Given the description of an element on the screen output the (x, y) to click on. 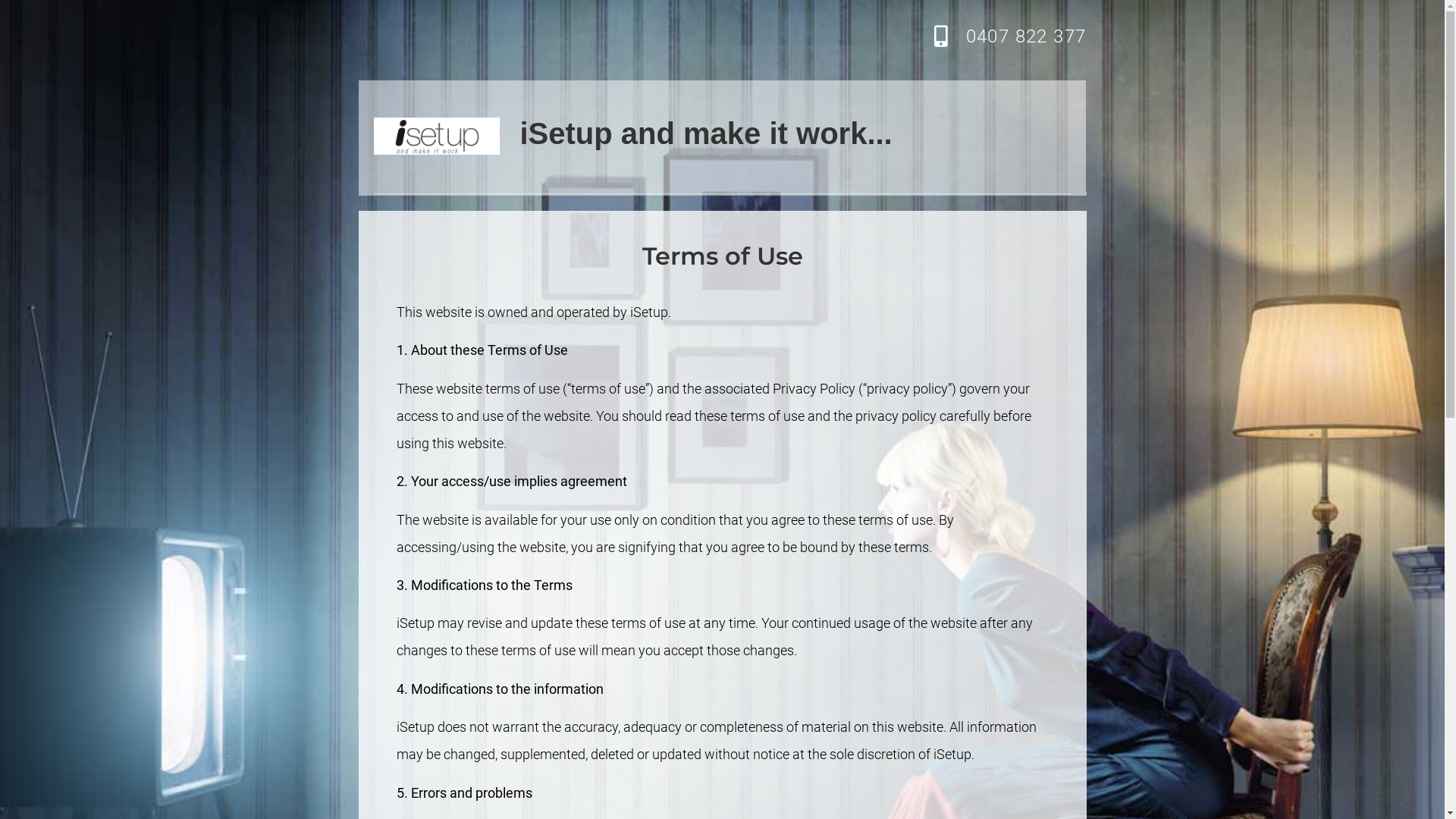
0407 822 377 Element type: text (1026, 36)
